Given the description of an element on the screen output the (x, y) to click on. 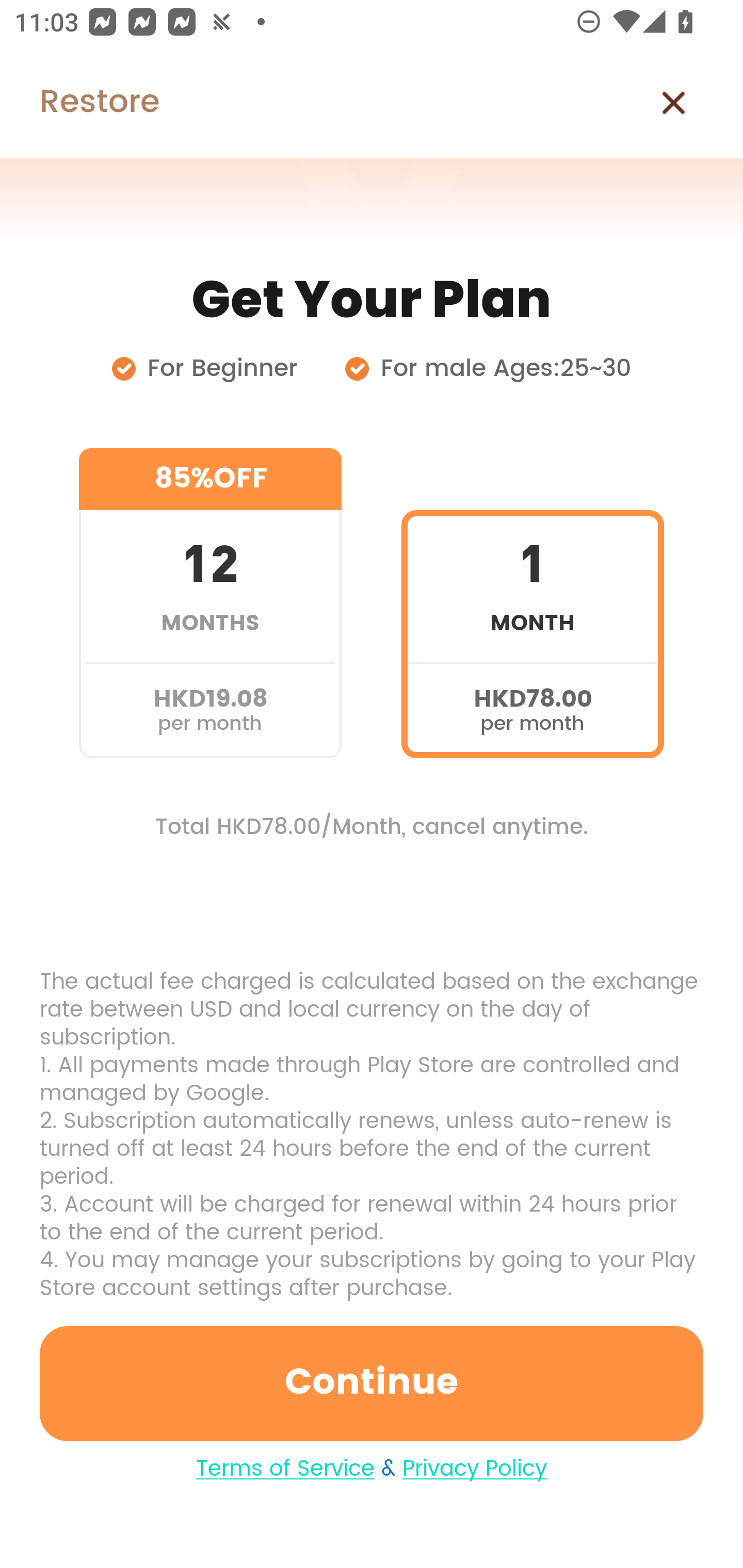
Restore (79, 102)
85%OFF 12 MONTHS per month HKD19.08 (209, 603)
1 MONTH per month HKD78.00 (532, 603)
Continue (371, 1383)
